Given the description of an element on the screen output the (x, y) to click on. 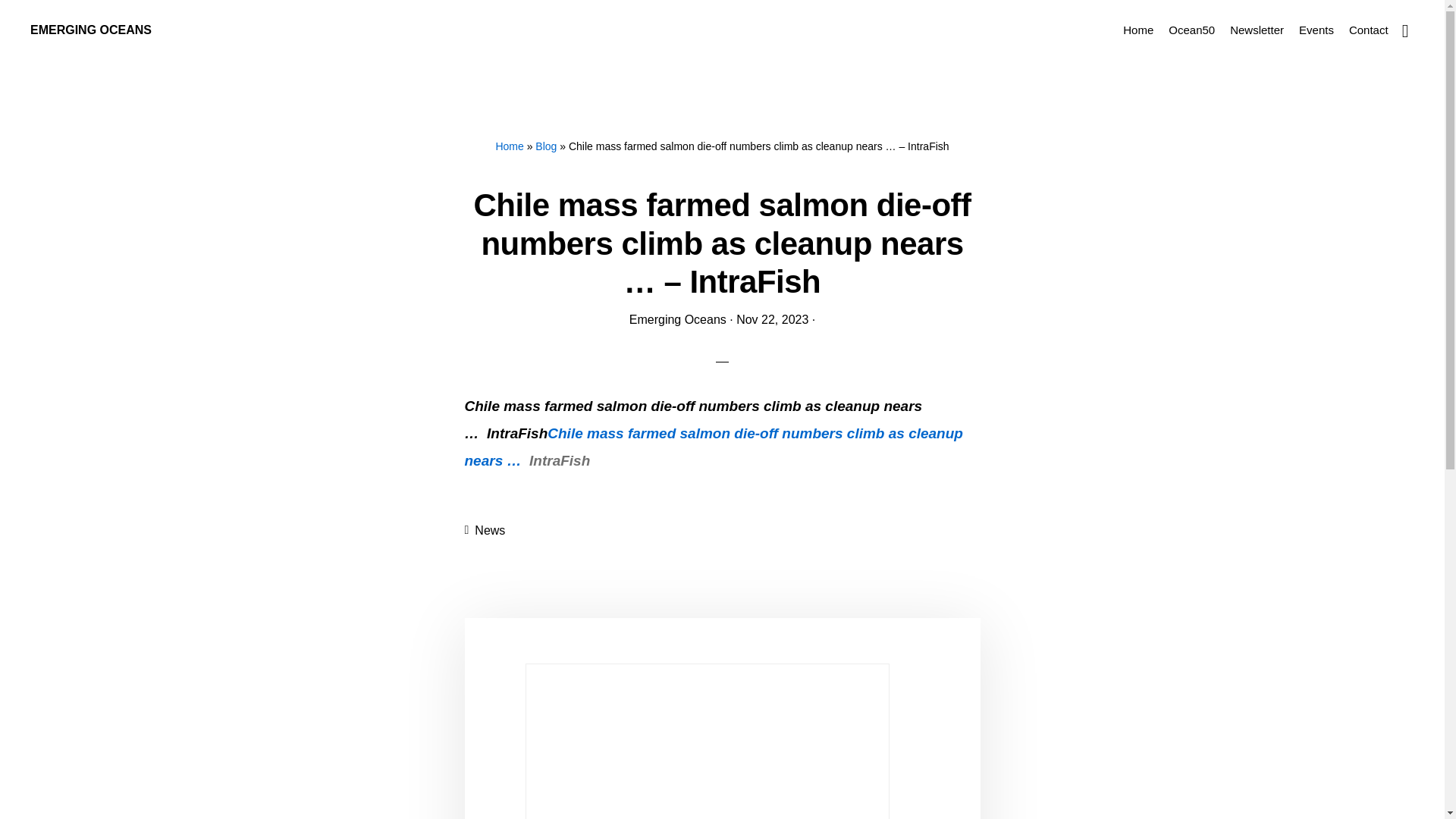
Home (1137, 29)
Ocean50 (1191, 29)
EMERGING OCEANS (90, 29)
CONTACT (842, 775)
OCEAN50 (645, 775)
EVENTS (785, 775)
Home (508, 146)
HOME (593, 775)
Newsletter (1257, 29)
